Given the description of an element on the screen output the (x, y) to click on. 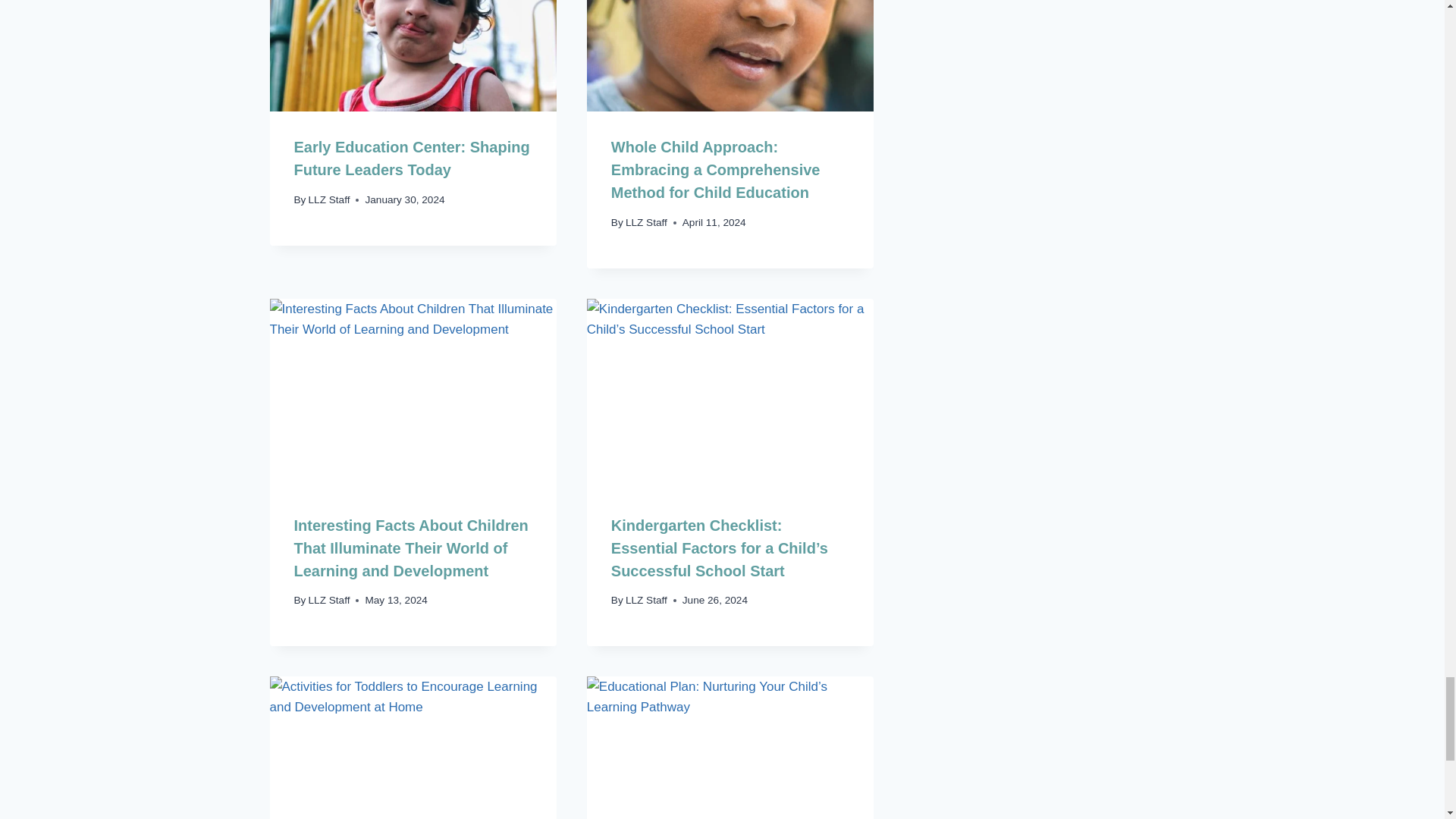
LLZ Staff (329, 600)
Early Education Center: Shaping Future Leaders Today (411, 158)
LLZ Staff (329, 199)
LLZ Staff (646, 222)
